Given the description of an element on the screen output the (x, y) to click on. 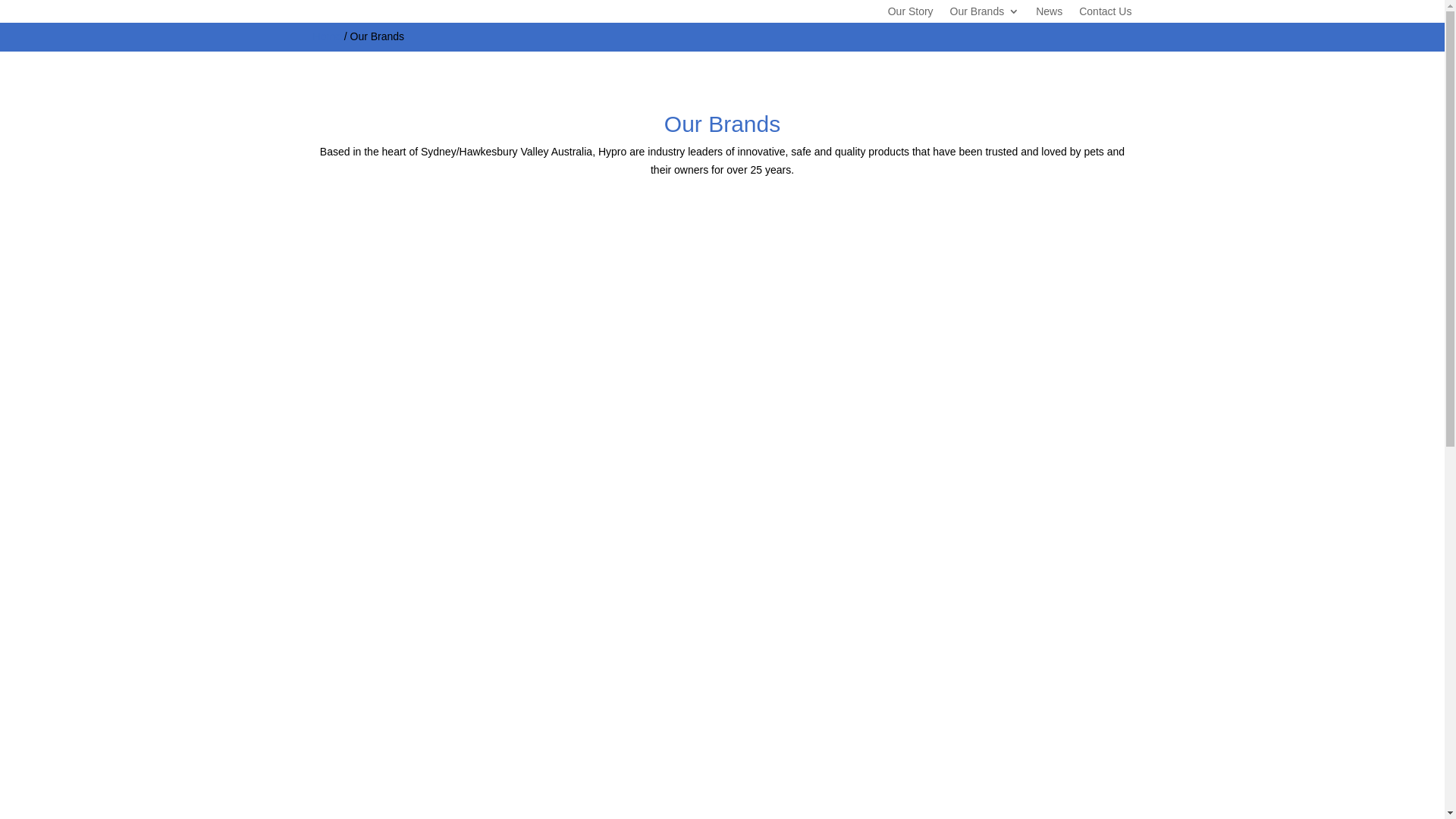
Home Element type: text (326, 36)
News Element type: text (1048, 14)
Our Brands Element type: text (984, 14)
Contact Us Element type: text (1105, 14)
Logo_Hypro_Main Element type: hover (312, 3)
Our Story Element type: text (910, 14)
